Given the description of an element on the screen output the (x, y) to click on. 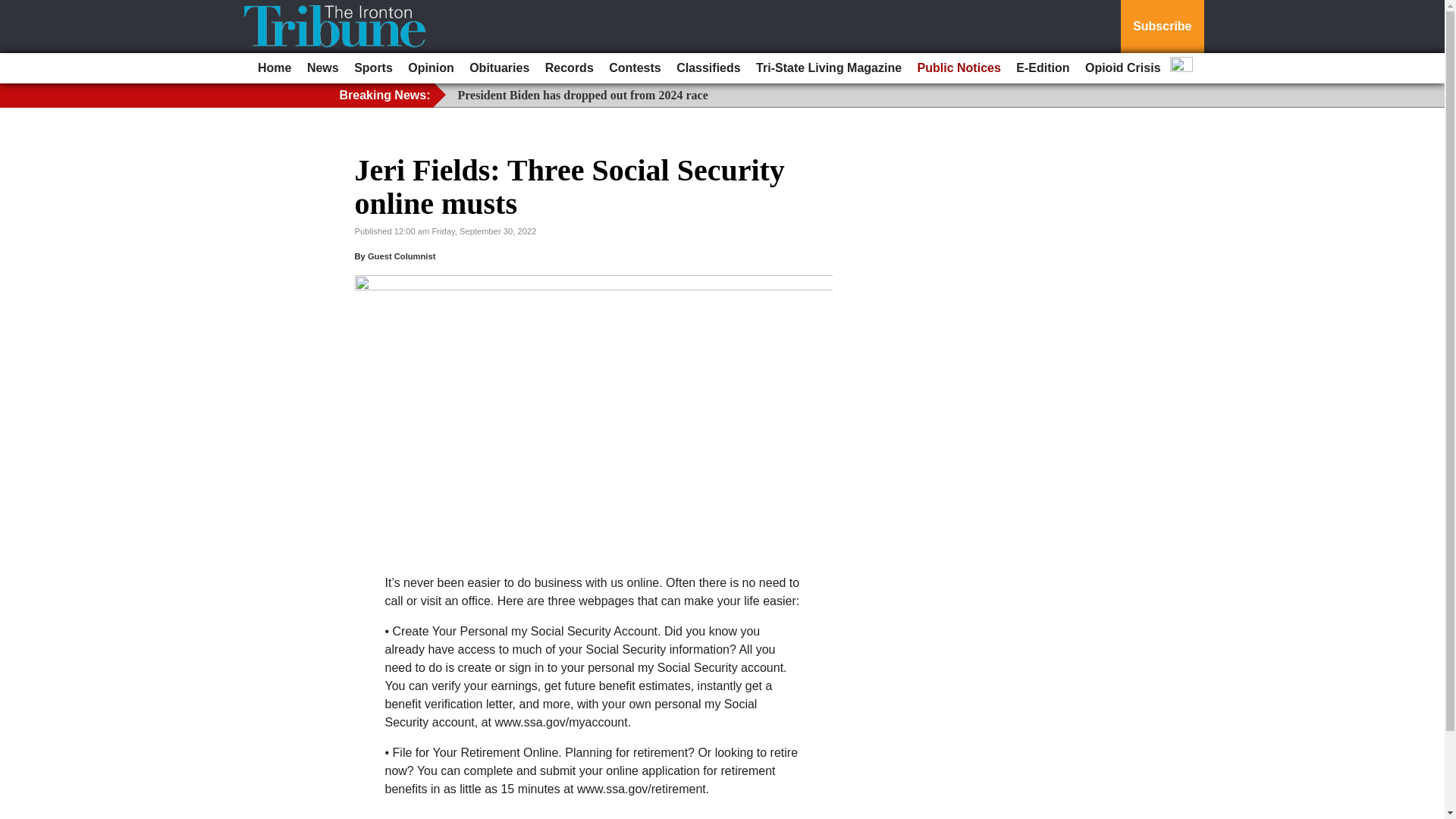
President Biden has dropped out from 2024 race (582, 94)
Contests (634, 68)
News (323, 68)
Home (274, 68)
Go (13, 9)
Sports (372, 68)
Records (568, 68)
E-Edition (1042, 68)
Obituaries (499, 68)
Classifieds (707, 68)
Subscribe (1162, 26)
Guest Columnist (401, 256)
President Biden has dropped out from 2024 race (582, 94)
Opioid Crisis (1122, 68)
Opinion (430, 68)
